Given the description of an element on the screen output the (x, y) to click on. 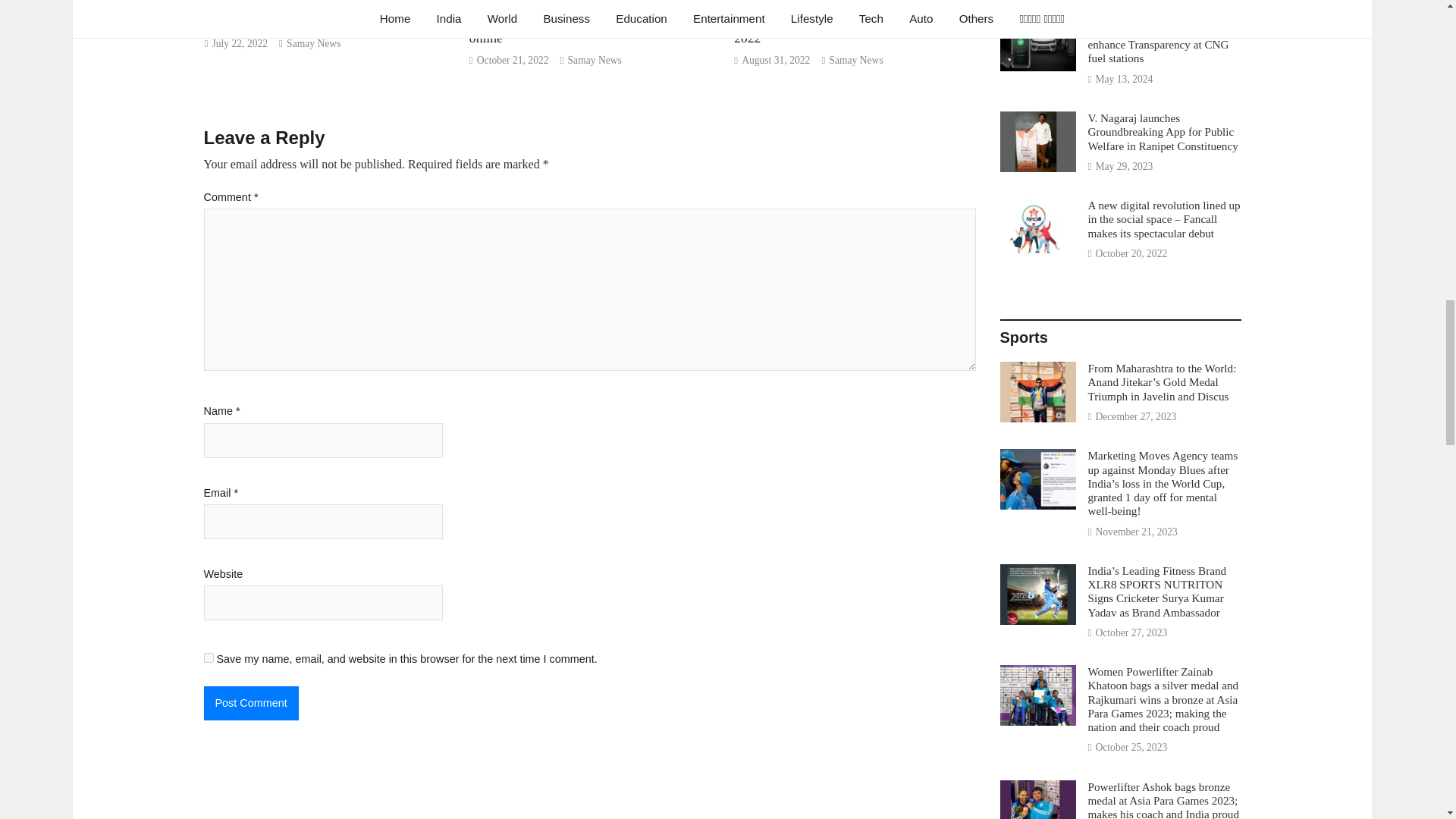
yes (207, 657)
Post Comment (250, 702)
